Given the description of an element on the screen output the (x, y) to click on. 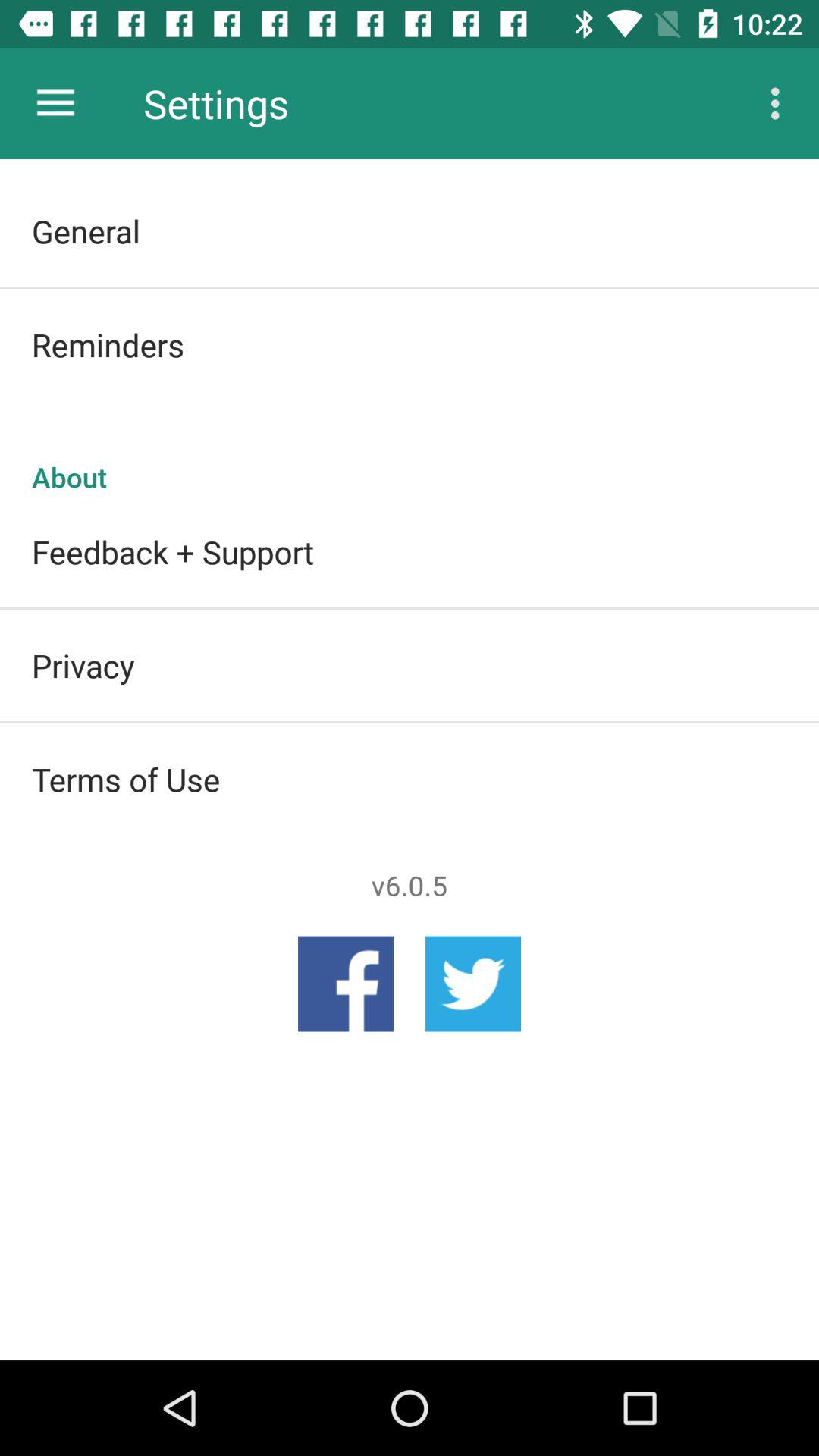
tap icon above about icon (409, 344)
